Given the description of an element on the screen output the (x, y) to click on. 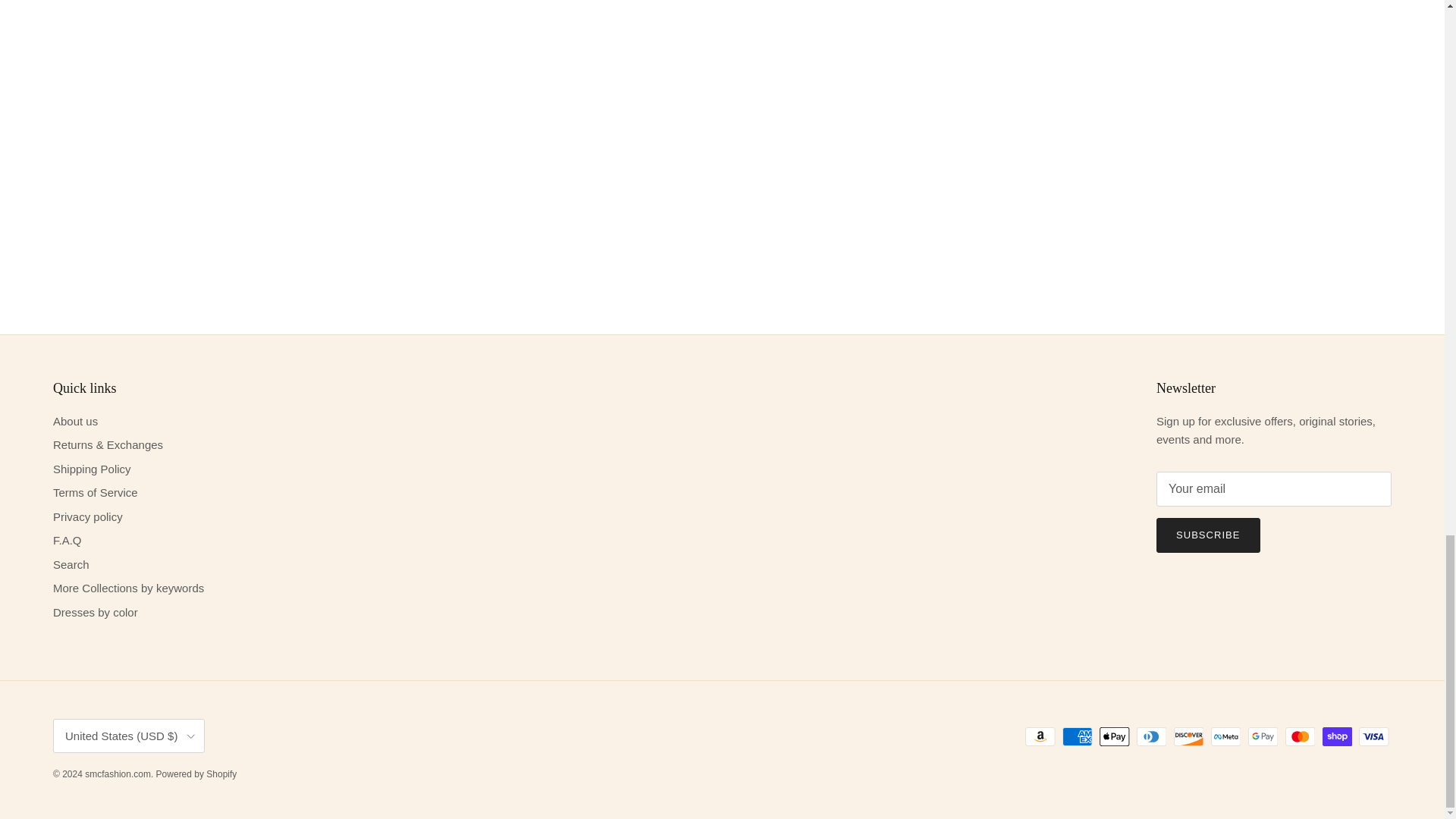
Apple Pay (1114, 736)
Discover (1188, 736)
Diners Club (1151, 736)
Amazon (1040, 736)
Mastercard (1299, 736)
Visa (1373, 736)
American Express (1077, 736)
Meta Pay (1225, 736)
Shop Pay (1337, 736)
Google Pay (1262, 736)
